Given the description of an element on the screen output the (x, y) to click on. 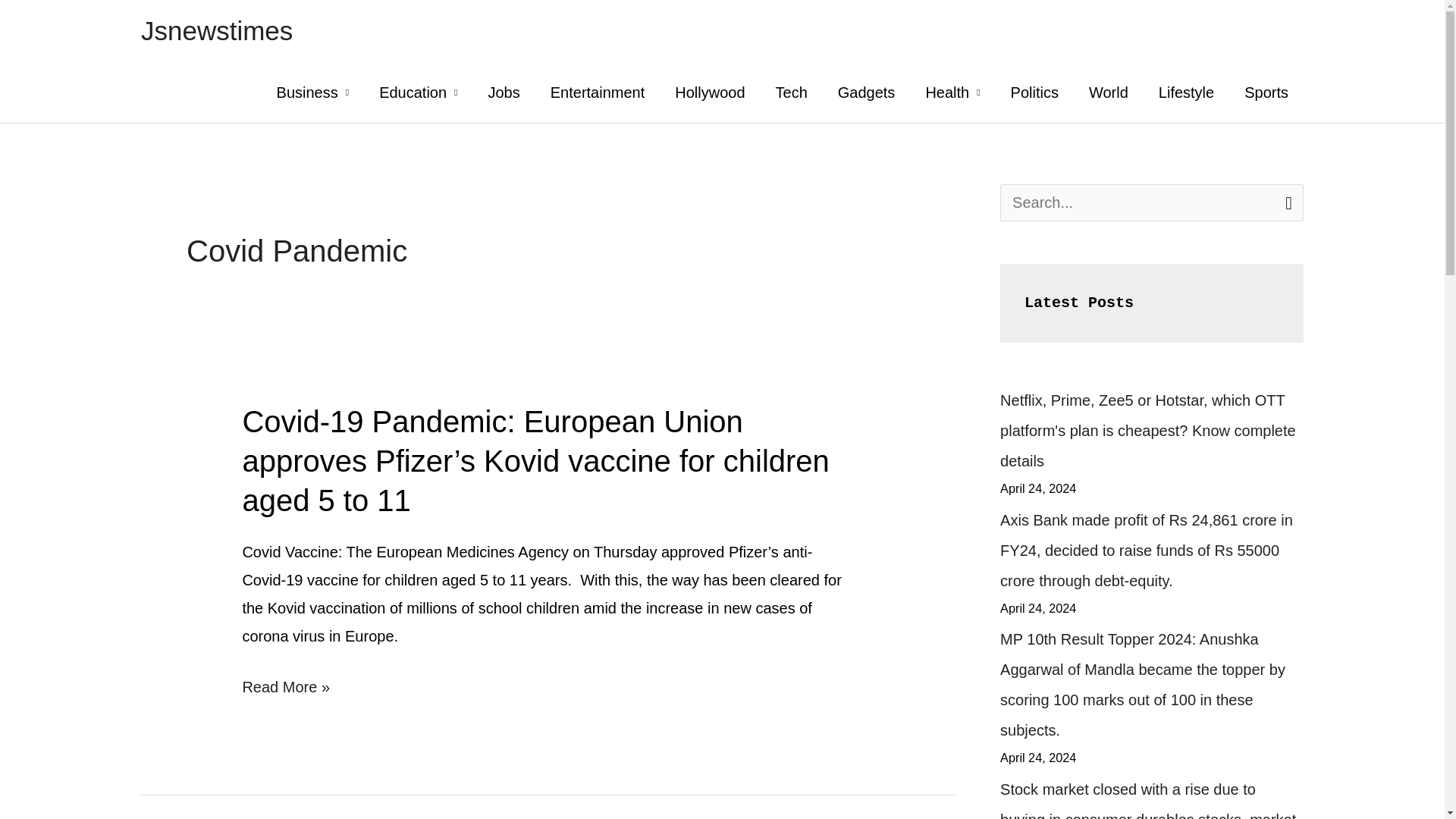
Tech (791, 92)
Business (313, 92)
Gadgets (866, 92)
Jsnewstimes (216, 30)
Entertainment (598, 92)
Lifestyle (1185, 92)
Health (952, 92)
Jobs (502, 92)
Search (1286, 201)
Hollywood (709, 92)
Sports (1265, 92)
Search (1286, 201)
